Given the description of an element on the screen output the (x, y) to click on. 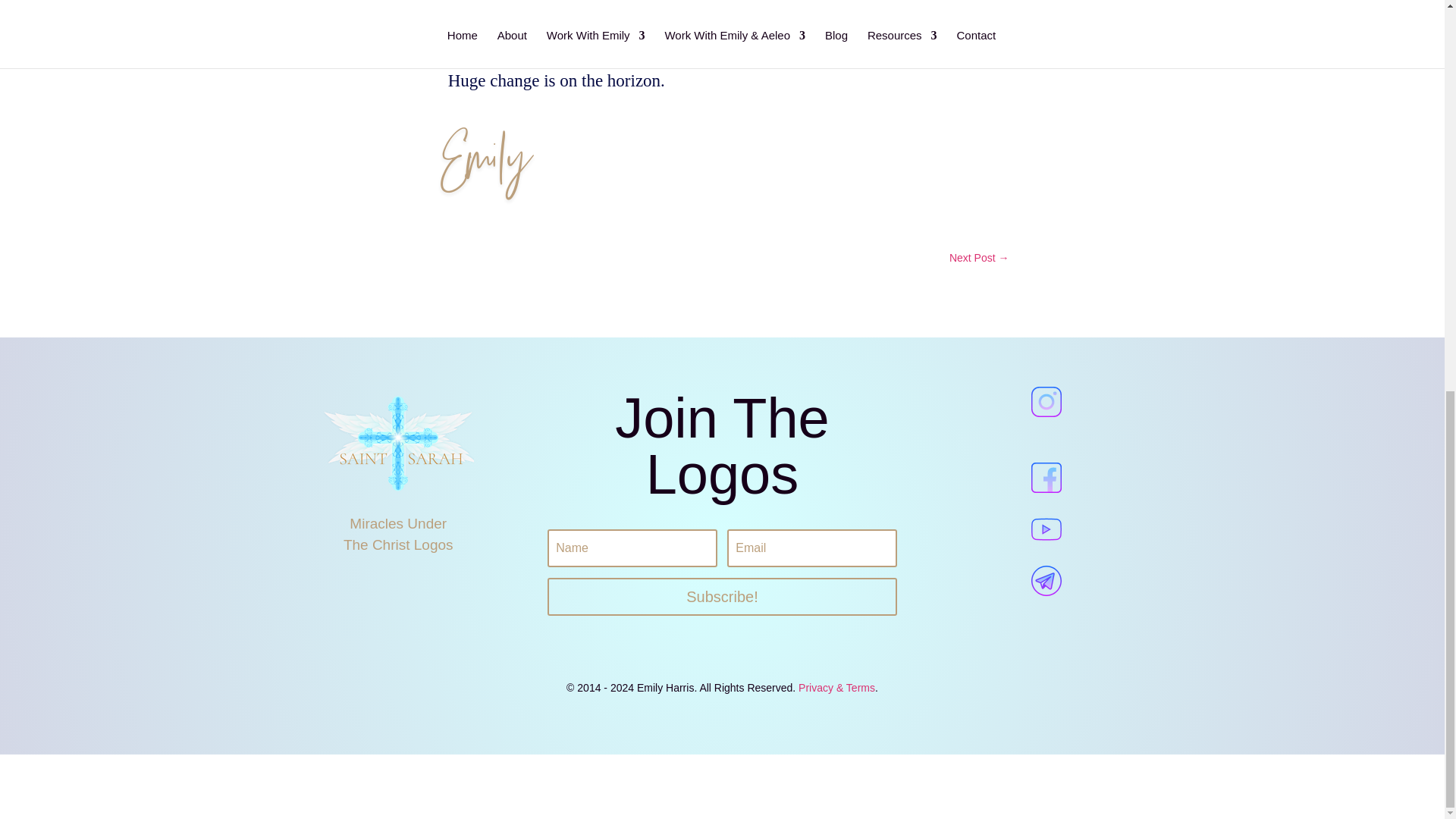
Facebook Icon (1046, 477)
YouTube Icon (1046, 529)
SS Footer Logo (397, 442)
Instagram Icon (1046, 401)
Subscribe! (721, 596)
Telegram Social Media Icon (1046, 580)
